Given the description of an element on the screen output the (x, y) to click on. 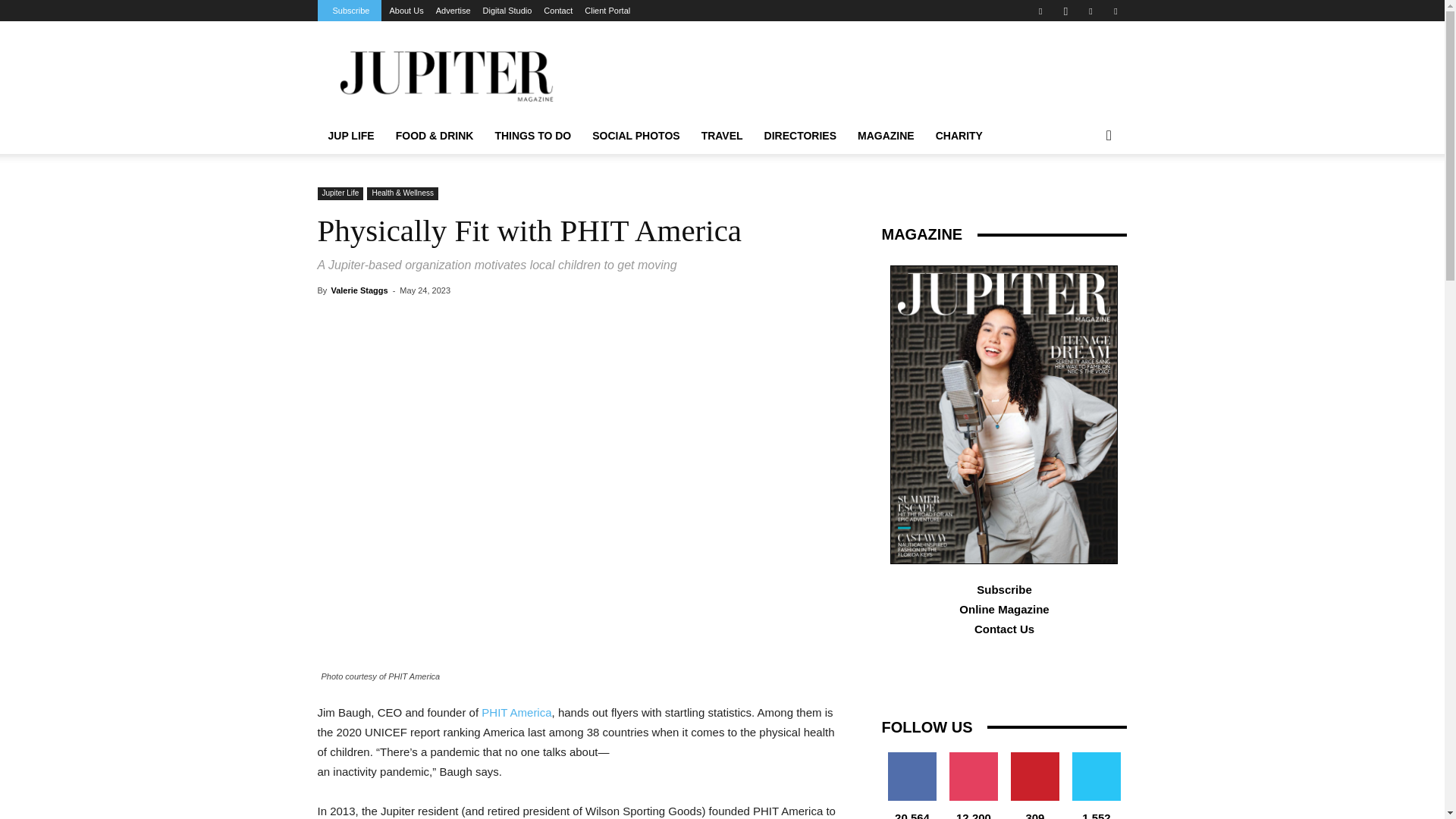
Digital Studio (507, 10)
About Us (405, 10)
Pinterest (1090, 10)
Facebook (1040, 10)
Advertise (452, 10)
Instagram (1065, 10)
Subscribe (350, 10)
Twitter (1114, 10)
Posts by Valerie Staggs (358, 289)
